Given the description of an element on the screen output the (x, y) to click on. 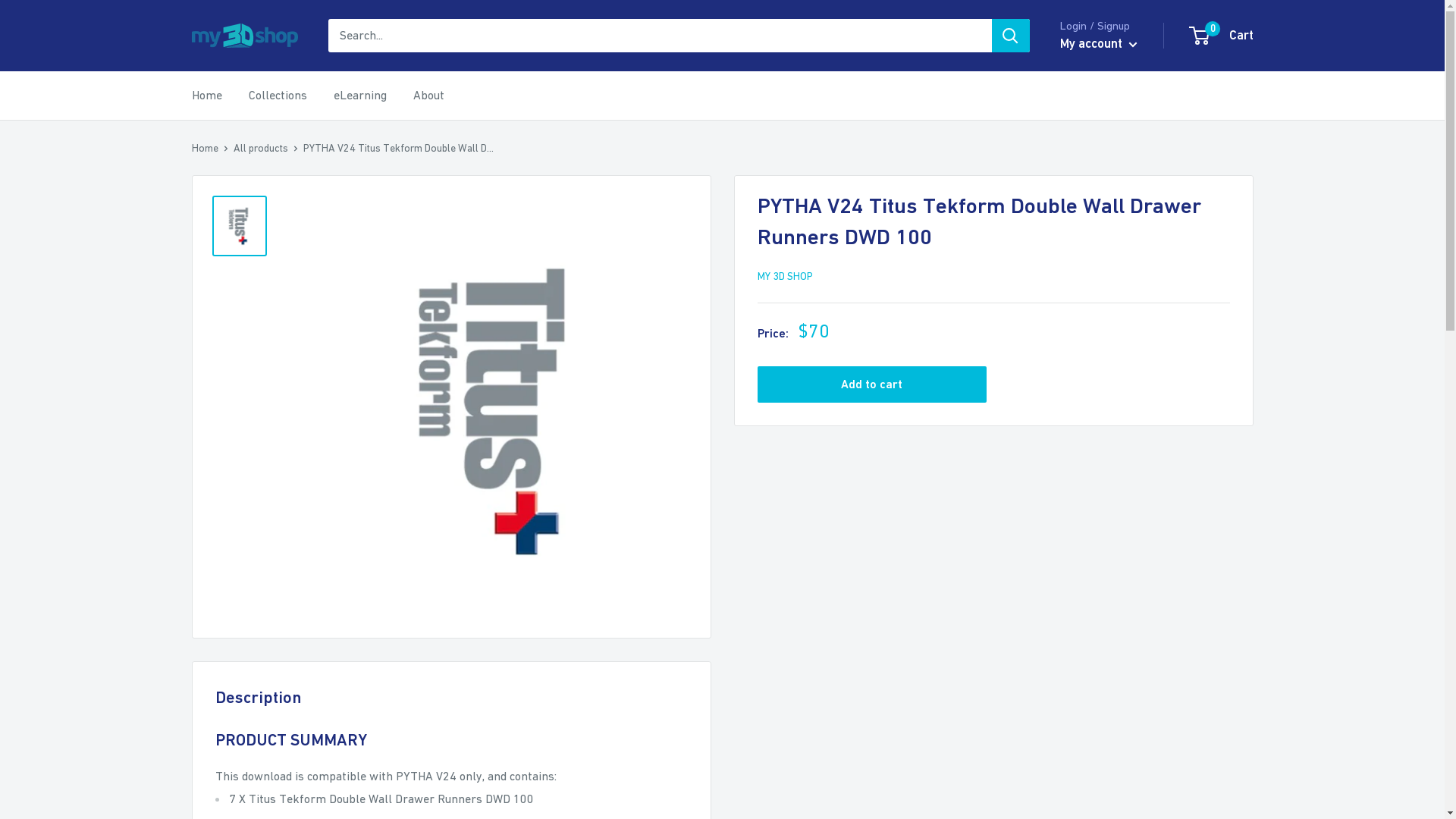
My account Element type: text (1098, 43)
About Element type: text (427, 95)
Home Element type: text (206, 95)
Add to cart Element type: text (871, 384)
MY 3D SHOP Element type: text (784, 275)
0
Cart Element type: text (1221, 35)
All products Element type: text (260, 147)
Home Element type: text (204, 147)
eLearning Element type: text (359, 95)
Collections Element type: text (277, 95)
